Given the description of an element on the screen output the (x, y) to click on. 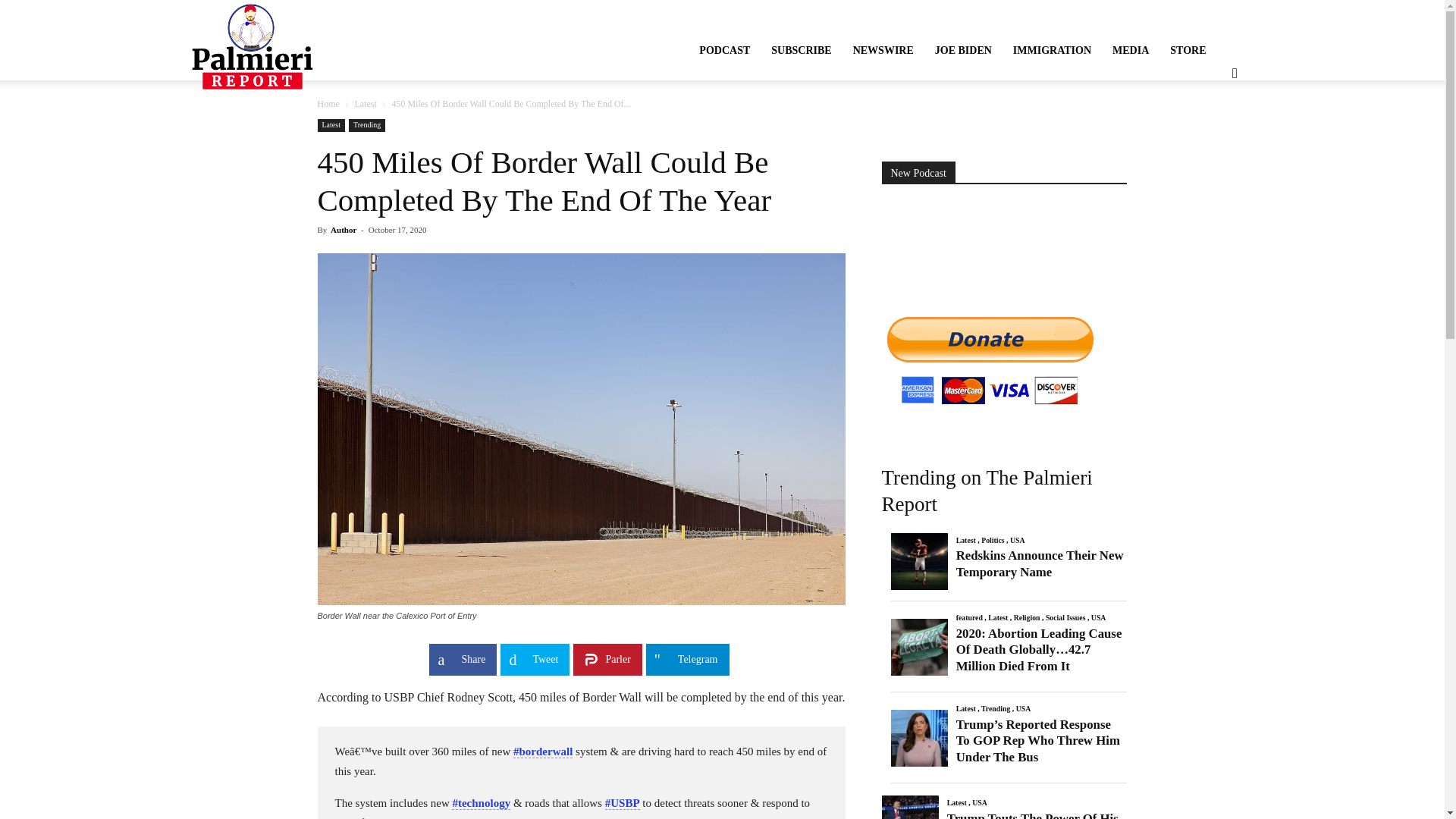
Share on Telegram (687, 659)
Author (343, 229)
Share on Tweet (534, 659)
View all posts in Latest (364, 103)
Home (328, 103)
Share on Parler (607, 659)
PODCAST (724, 50)
JOE BIDEN (963, 50)
SUBSCRIBE (800, 50)
